Given the description of an element on the screen output the (x, y) to click on. 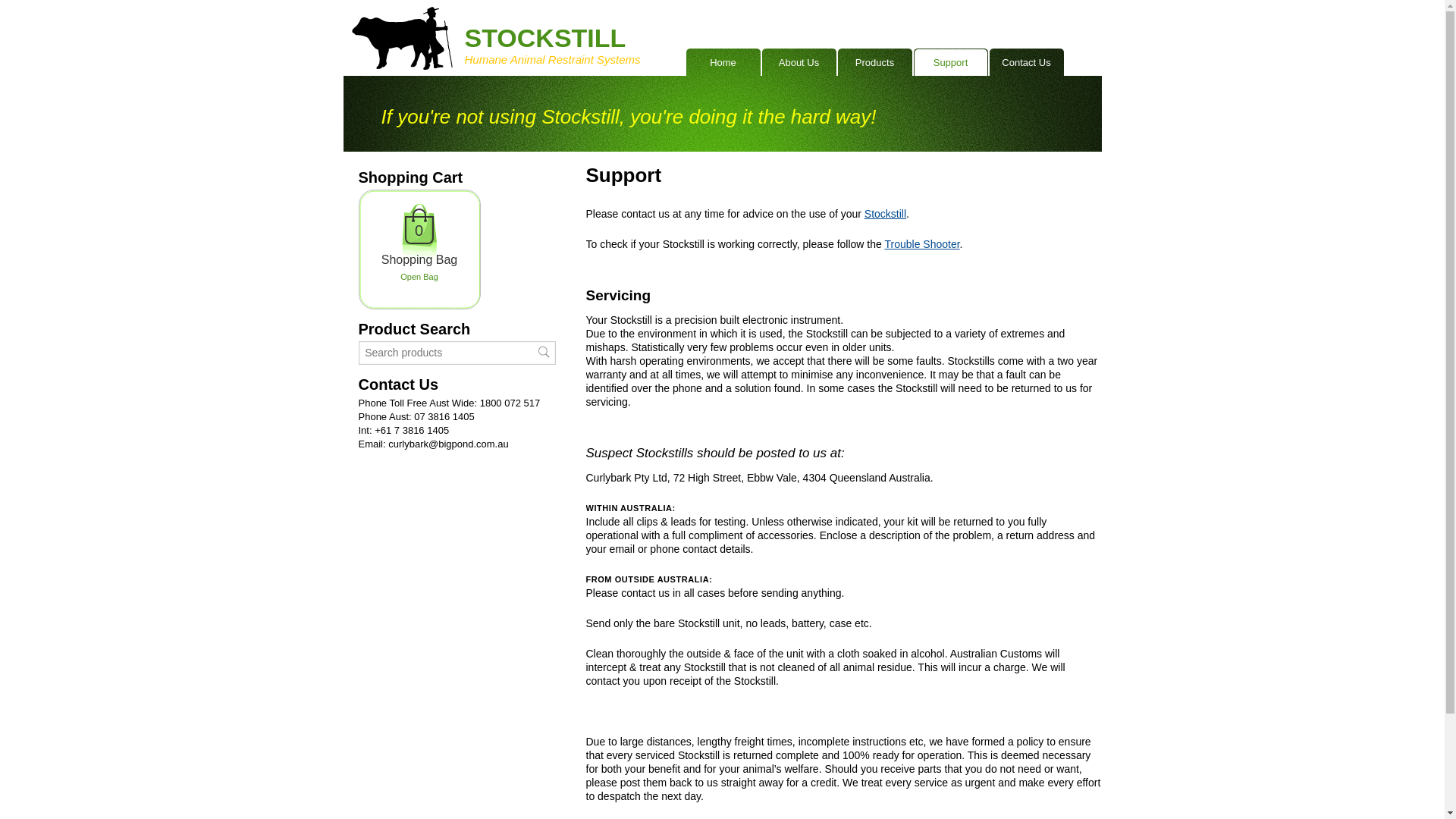
Contact Us Element type: text (1025, 61)
Trouble Shooter Element type: text (921, 244)
Products Element type: text (874, 61)
Support Element type: text (950, 61)
Stockstill Element type: text (885, 213)
Home Element type: text (722, 61)
About Us Element type: text (798, 61)
STOCKSTILL Element type: text (544, 37)
